Given the description of an element on the screen output the (x, y) to click on. 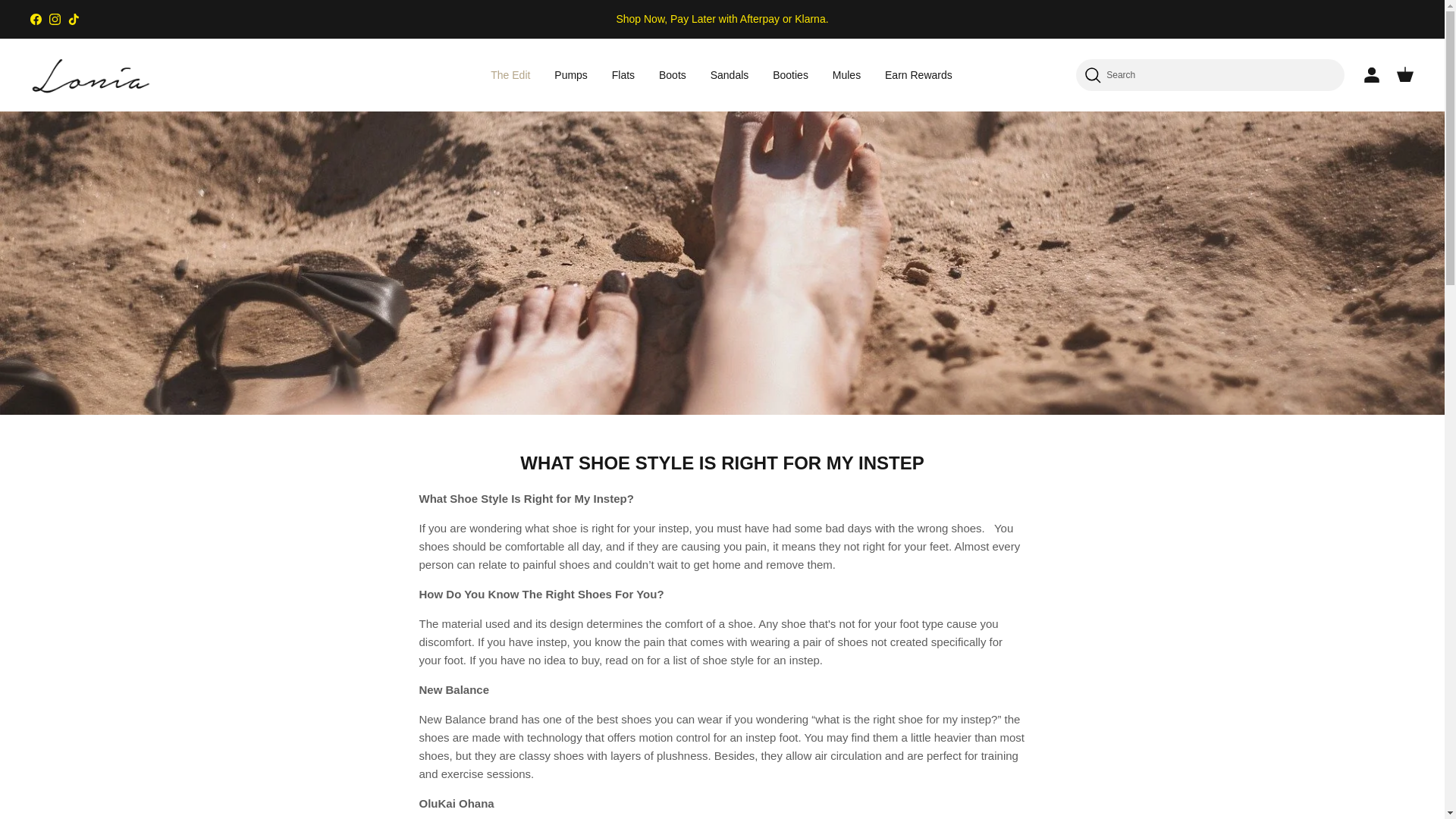
Account (1368, 75)
Mules (846, 74)
Facebook (36, 19)
Booties (789, 74)
Boots (672, 74)
Lonia on TikTok (74, 19)
Pumps (570, 74)
Flats (623, 74)
Instagram (55, 19)
Earn Rewards (918, 74)
Shop Now, Pay Later with Afterpay or Klarna. (721, 18)
Lonia on Facebook (36, 19)
Lonia on Instagram (55, 19)
The Edit (510, 74)
Lonia (90, 75)
